Given the description of an element on the screen output the (x, y) to click on. 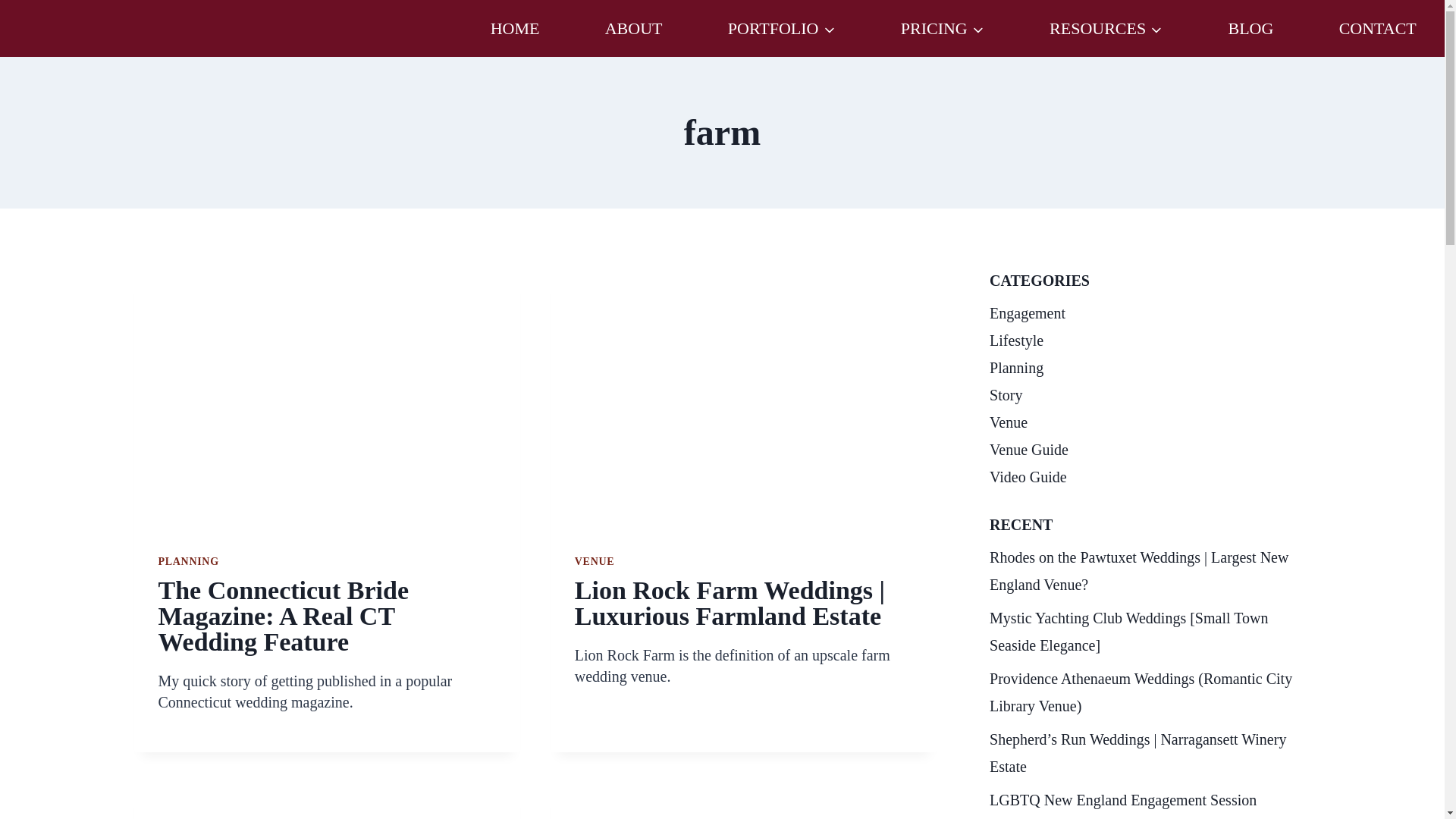
BLOG (1249, 27)
CONTACT (1376, 27)
PORTFOLIO (781, 27)
VENUE (594, 561)
RESOURCES (1106, 27)
The Connecticut Bride Magazine: A Real CT Wedding Feature (283, 616)
PRICING (942, 27)
ABOUT (633, 27)
HOME (514, 27)
PLANNING (187, 561)
